Given the description of an element on the screen output the (x, y) to click on. 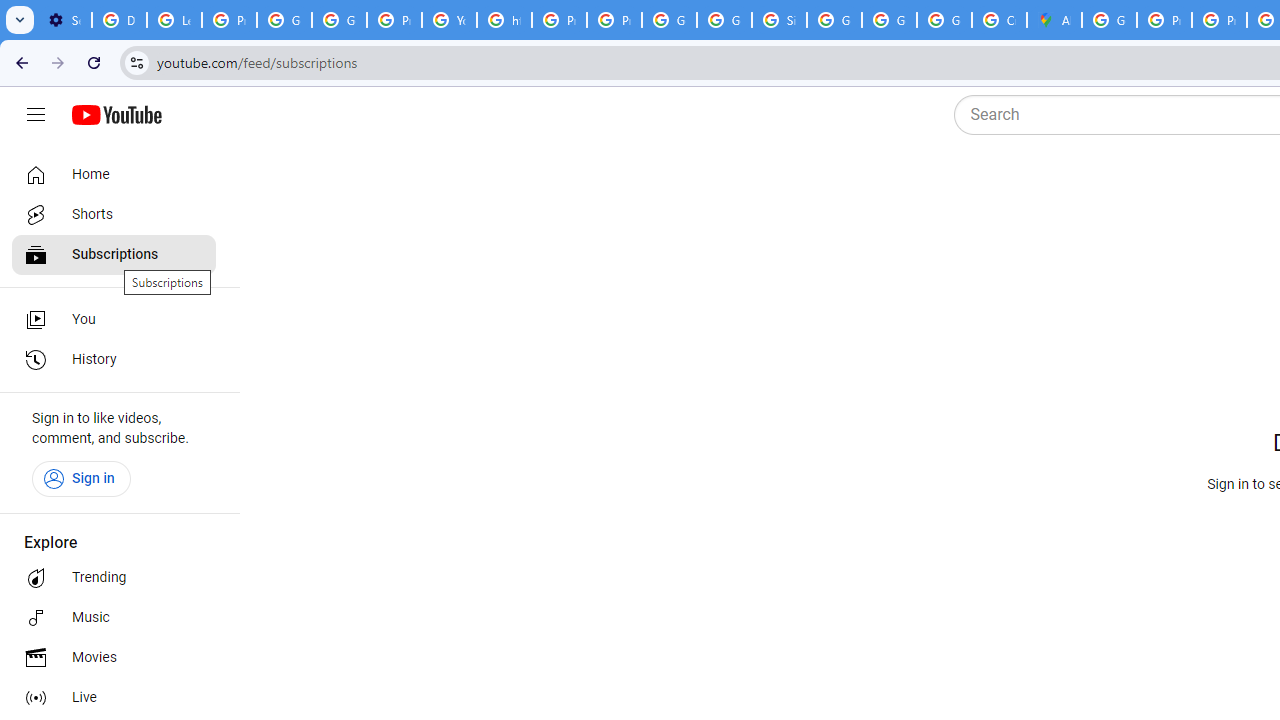
Delete photos & videos - Computer - Google Photos Help (119, 20)
YouTube (449, 20)
Music (113, 617)
Trending (113, 578)
Guide (35, 115)
